Given the description of an element on the screen output the (x, y) to click on. 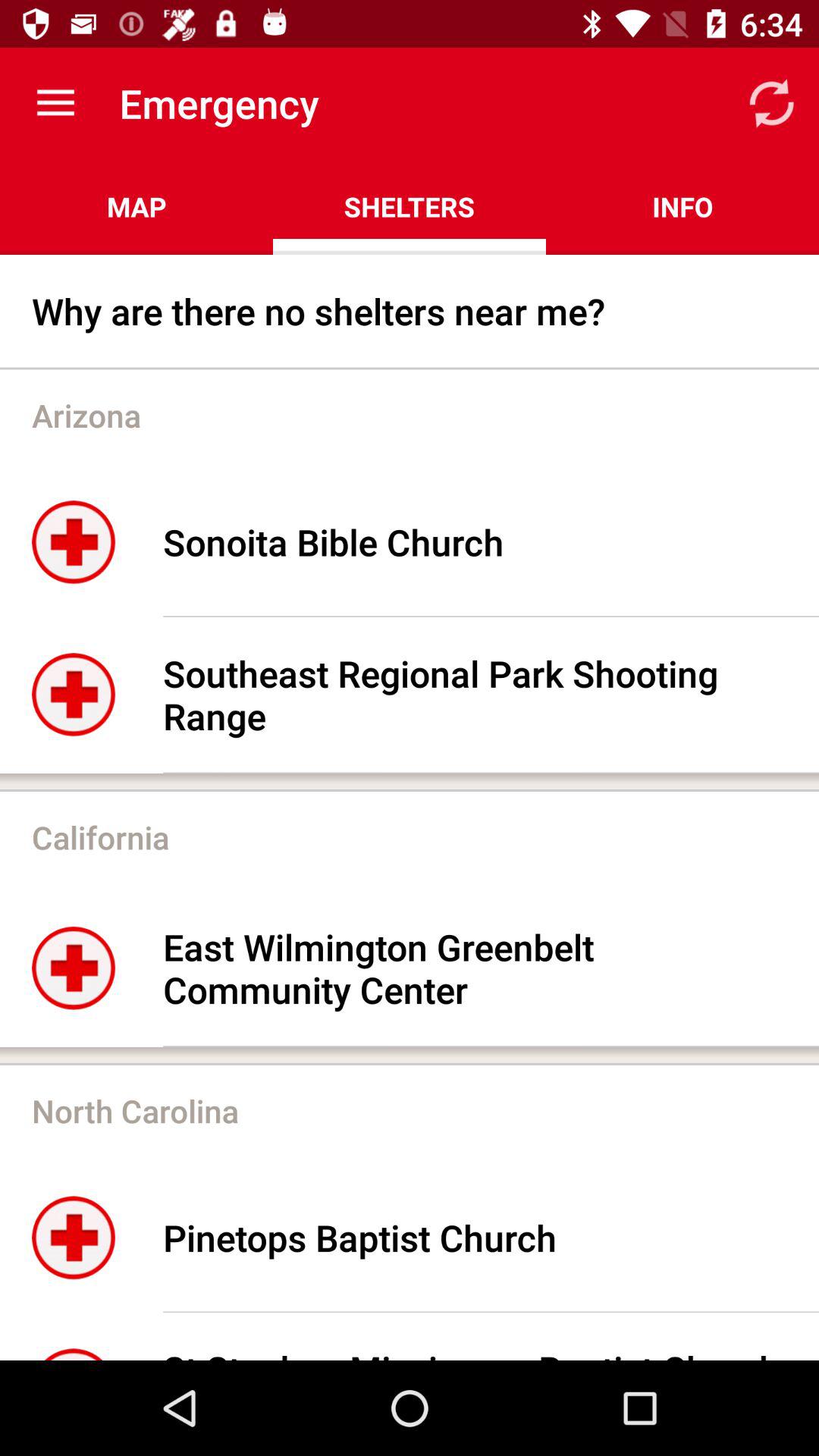
swipe to the info (682, 206)
